Given the description of an element on the screen output the (x, y) to click on. 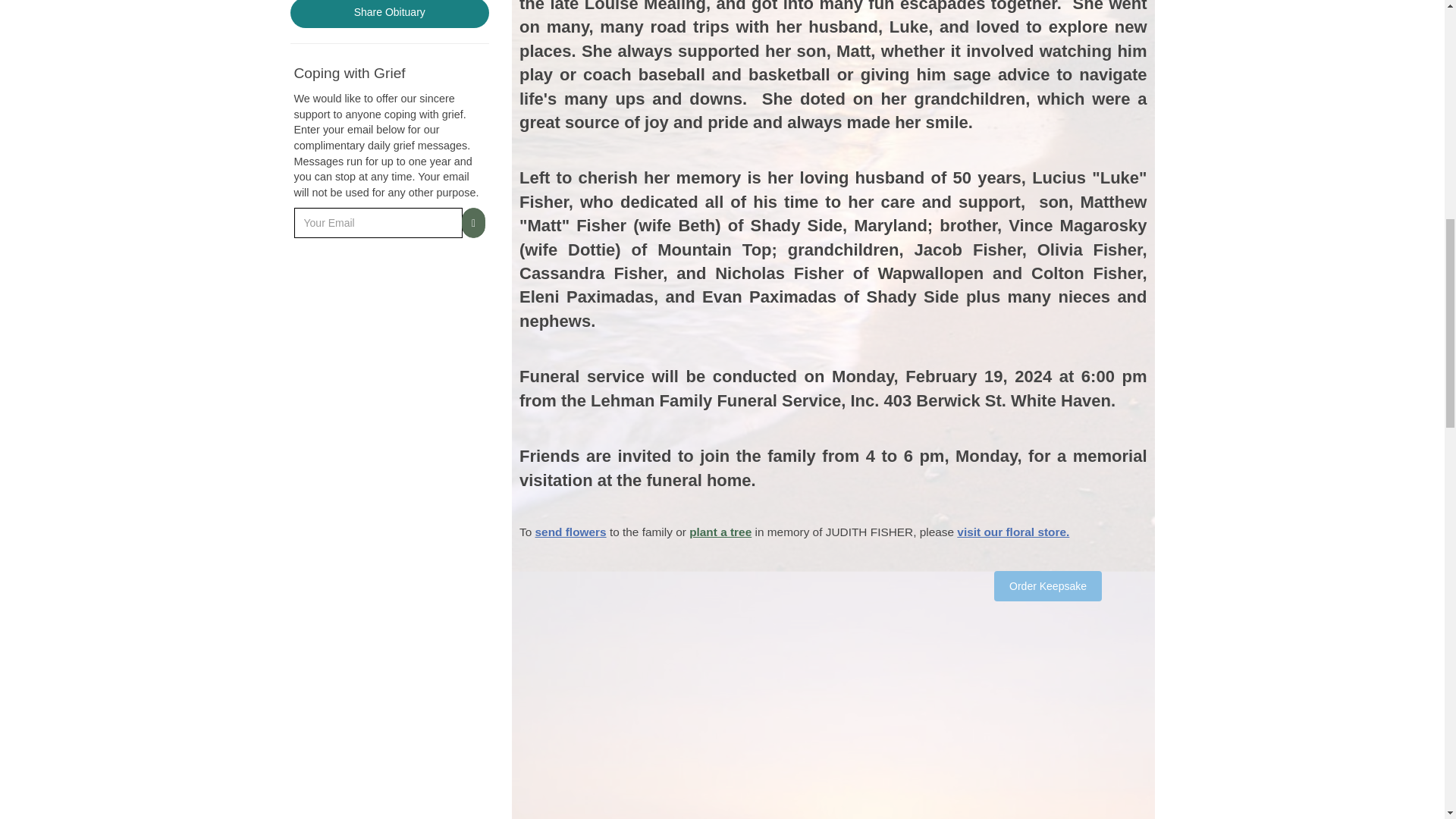
Share Obituary (389, 13)
send flowers (571, 531)
plant a tree (719, 531)
visit our floral store. (1012, 531)
